Given the description of an element on the screen output the (x, y) to click on. 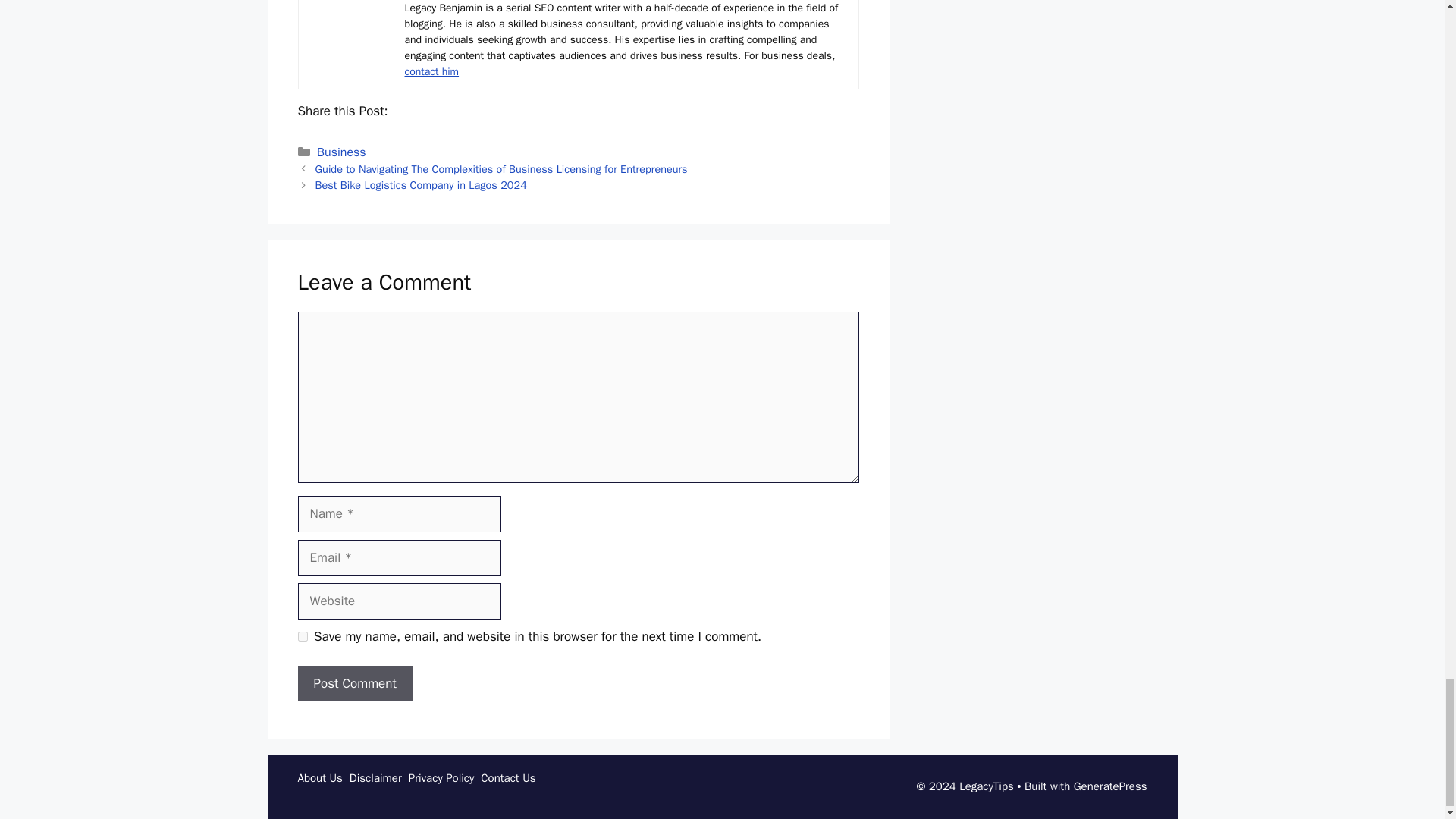
About Us  (321, 777)
Best Bike Logistics Company in Lagos 2024 (421, 184)
Post Comment (354, 683)
yes (302, 636)
contact him (432, 71)
Post Comment (354, 683)
Business (341, 151)
